Given the description of an element on the screen output the (x, y) to click on. 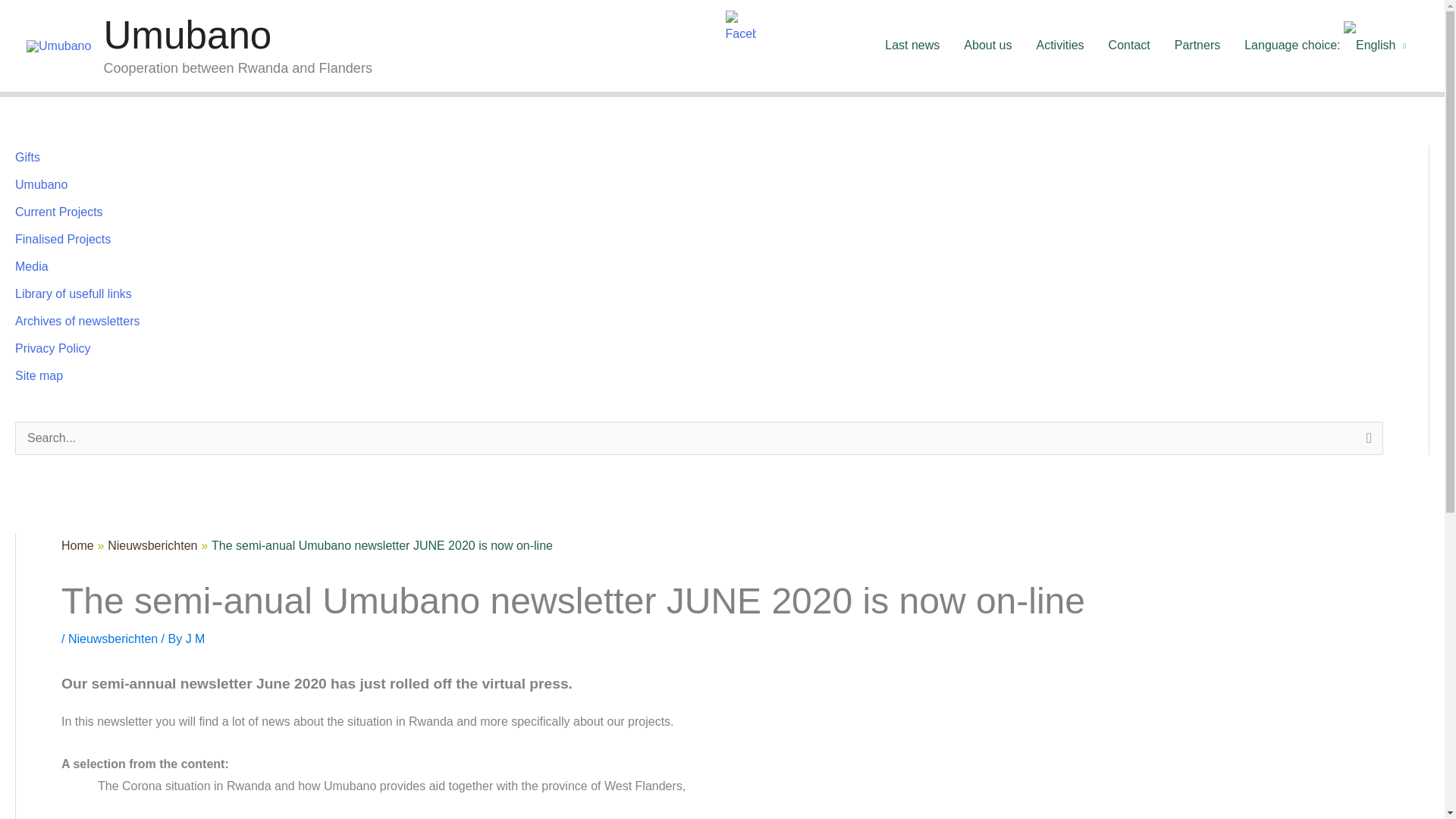
J M (195, 638)
About us (987, 45)
Contact (1128, 45)
Site map (38, 375)
Last news (912, 45)
Home (77, 545)
Language choice:  (1324, 45)
Current Projects (58, 211)
Activities (1059, 45)
Library of usefull links (73, 293)
